Given the description of an element on the screen output the (x, y) to click on. 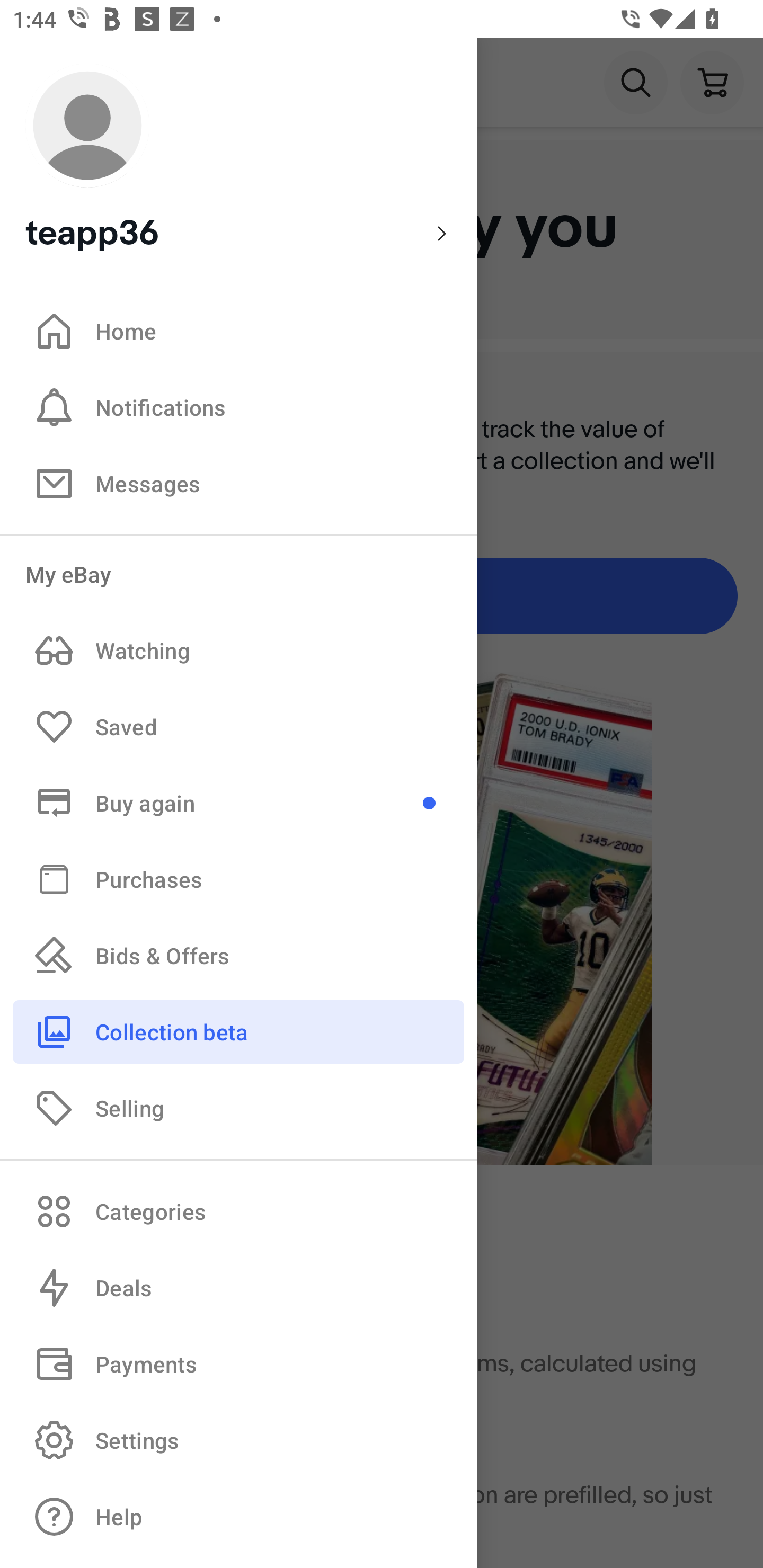
teapp36 (238, 158)
Home (238, 330)
Notifications (238, 406)
Messages (238, 483)
Watching (238, 650)
Saved (238, 726)
Buy again Is new feature (238, 802)
Purchases (238, 878)
Bids & Offers (238, 955)
Collection beta (238, 1031)
Selling (238, 1107)
Categories (238, 1210)
Deals (238, 1287)
Payments (238, 1363)
Settings (238, 1439)
Help (238, 1516)
